Given the description of an element on the screen output the (x, y) to click on. 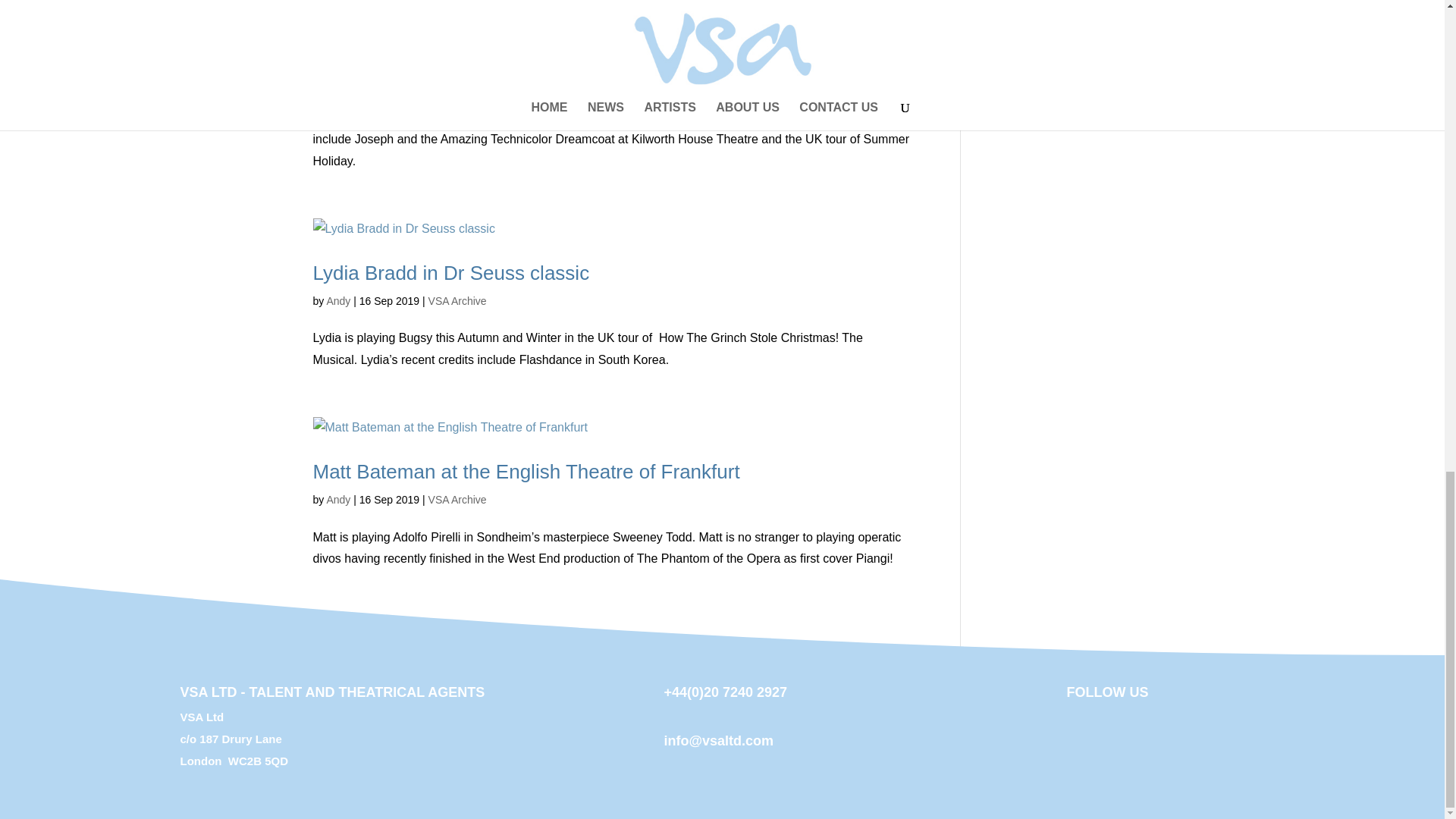
Andy (338, 499)
VSA Archive (457, 80)
Lydia Bradd in Dr Seuss classic (451, 272)
Posts by Andy (338, 300)
VSA Archive (457, 300)
Matt Bateman at the English Theatre of Frankfurt (526, 471)
VSA Archive (457, 499)
Andy (338, 80)
Posts by Andy (338, 499)
Andy (338, 300)
